Given the description of an element on the screen output the (x, y) to click on. 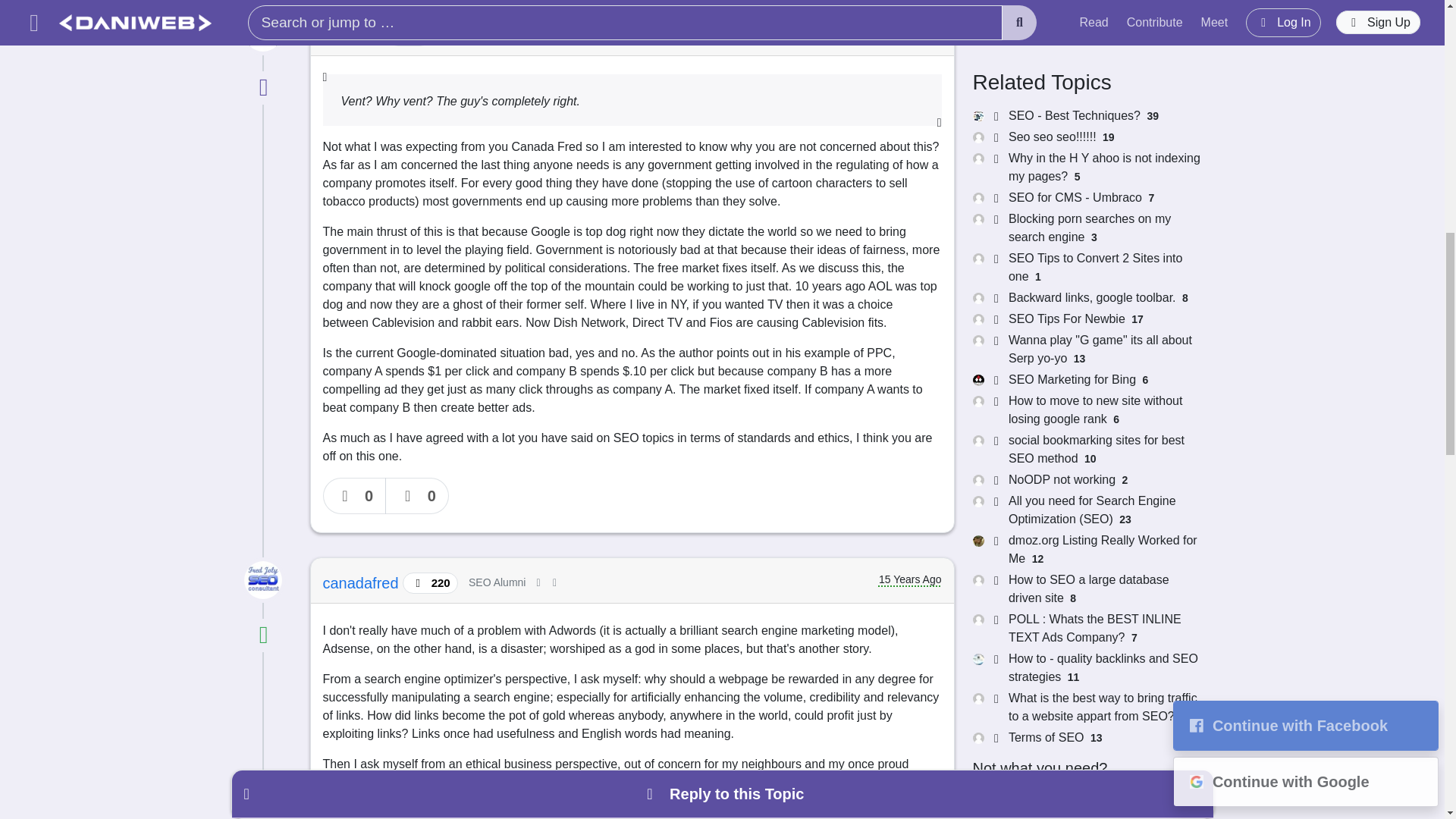
0 (355, 495)
0 (416, 495)
canadafred (363, 582)
MktgRob (355, 35)
